Given the description of an element on the screen output the (x, y) to click on. 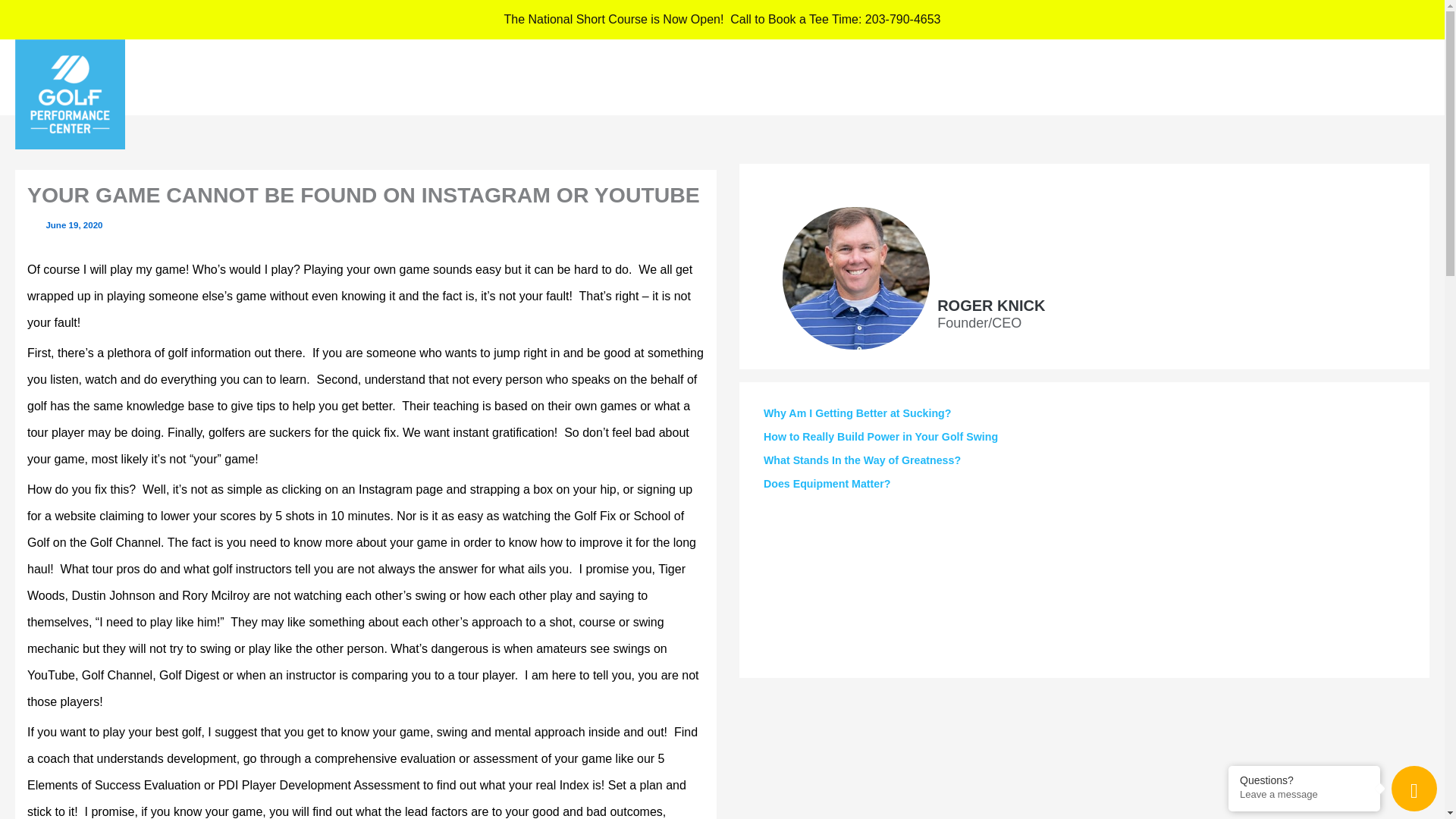
JUNIOR OFFERINGS (830, 76)
CUSTOM CLUBS (1261, 76)
ADULT OFFERINGS (974, 76)
THE 5 ELEMENTS BLOG (1121, 76)
Questions? (1304, 779)
THE NATIONAL (1376, 76)
Leave a message (1304, 794)
